Given the description of an element on the screen output the (x, y) to click on. 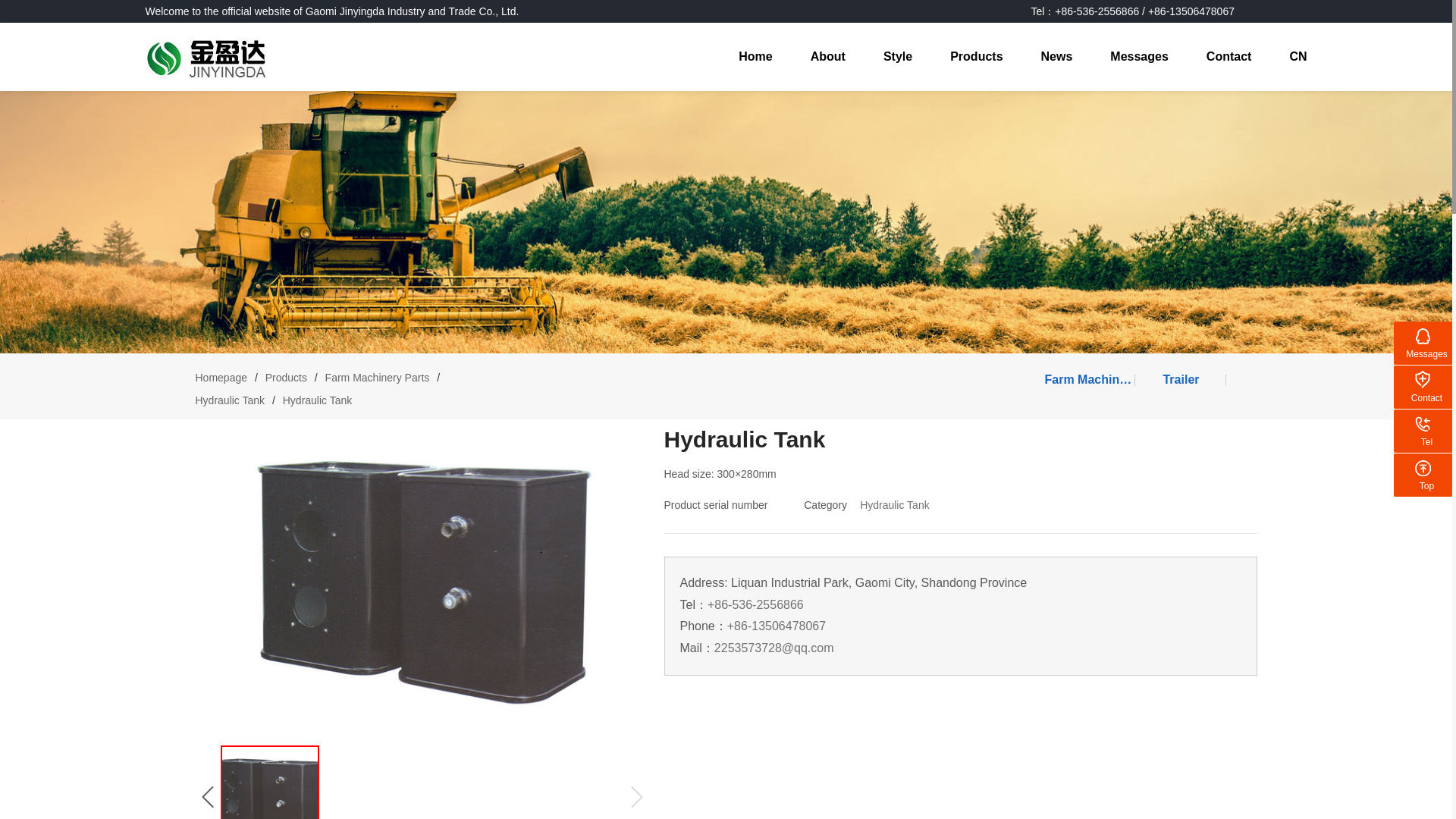
Homepage (221, 377)
Farm Machinery Parts (1089, 379)
Hydraulic Tank (895, 504)
Gaomi Jinyingda Industry and Trade Co., Ltd. (206, 57)
Farm Machinery Parts (376, 377)
Products (285, 377)
Trailer (1180, 379)
Hydraulic Tank (229, 399)
